Given the description of an element on the screen output the (x, y) to click on. 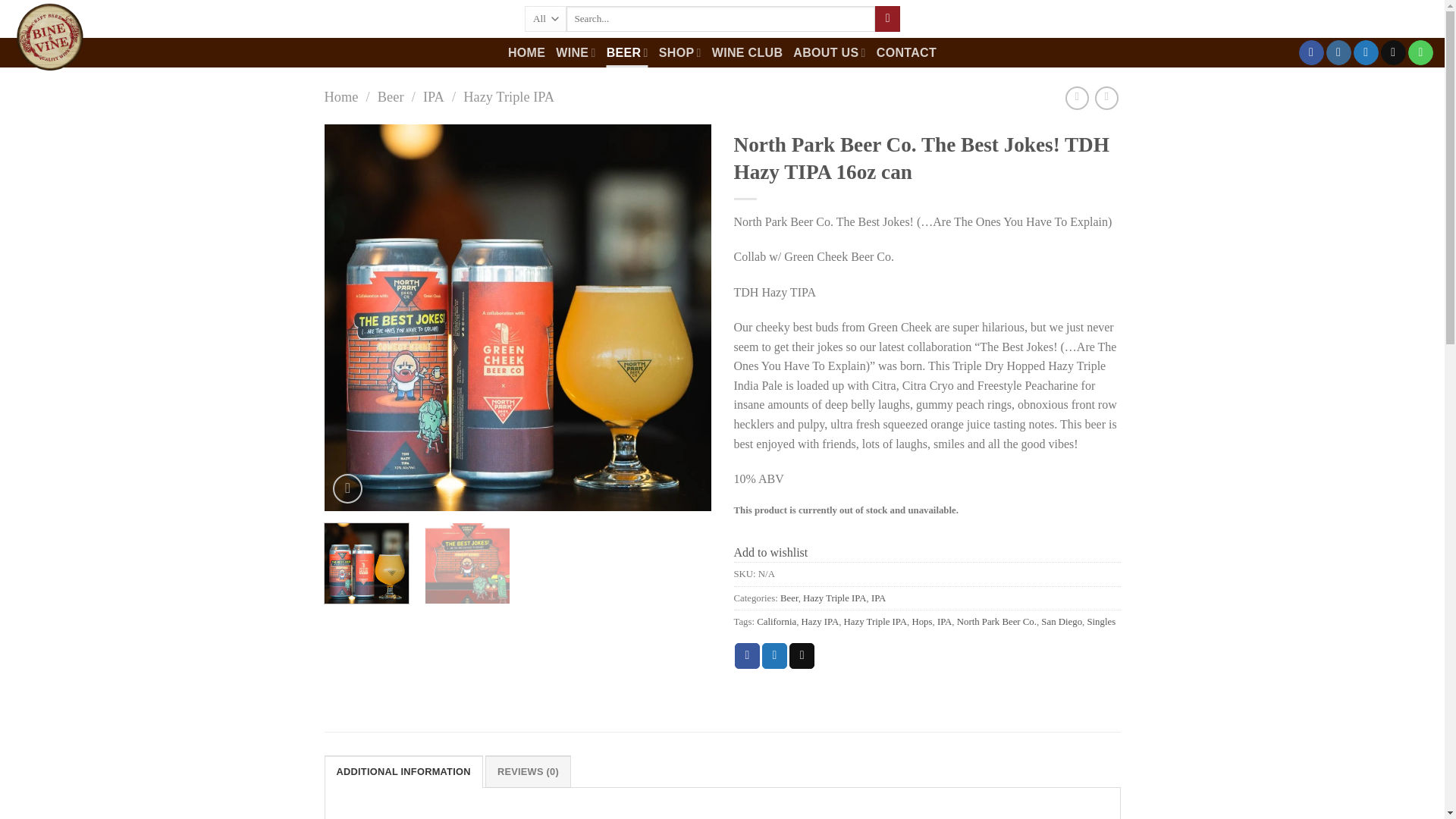
Zoom (347, 488)
Follow on Twitter (1366, 53)
Search (887, 18)
HOME (526, 52)
Call us (1419, 53)
Cart (1409, 19)
Follow on Instagram (1338, 53)
Login (1318, 18)
Follow on Facebook (1310, 53)
SHOP (680, 52)
BEER (627, 52)
CART (1409, 19)
Share on Facebook (747, 655)
WINE (575, 52)
Send us an email (1393, 53)
